Given the description of an element on the screen output the (x, y) to click on. 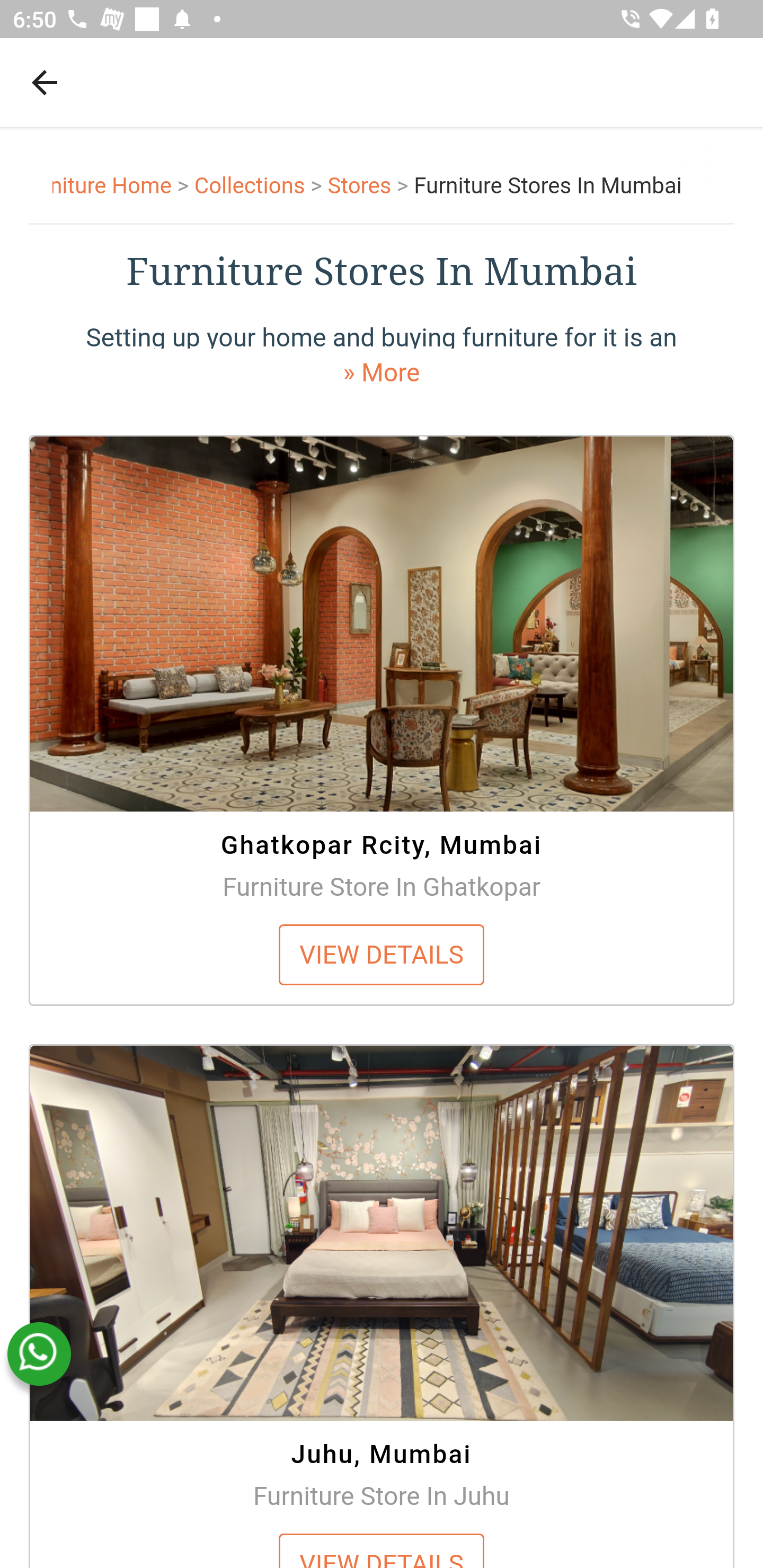
Navigate up (44, 82)
Furniture Home >  Furniture Home  >  (123, 186)
Collections >  Collections  >  (260, 186)
Stores >  Stores  >  (371, 186)
» More (381, 372)
VIEW DETAILS (381, 953)
whatsapp (38, 1353)
